Given the description of an element on the screen output the (x, y) to click on. 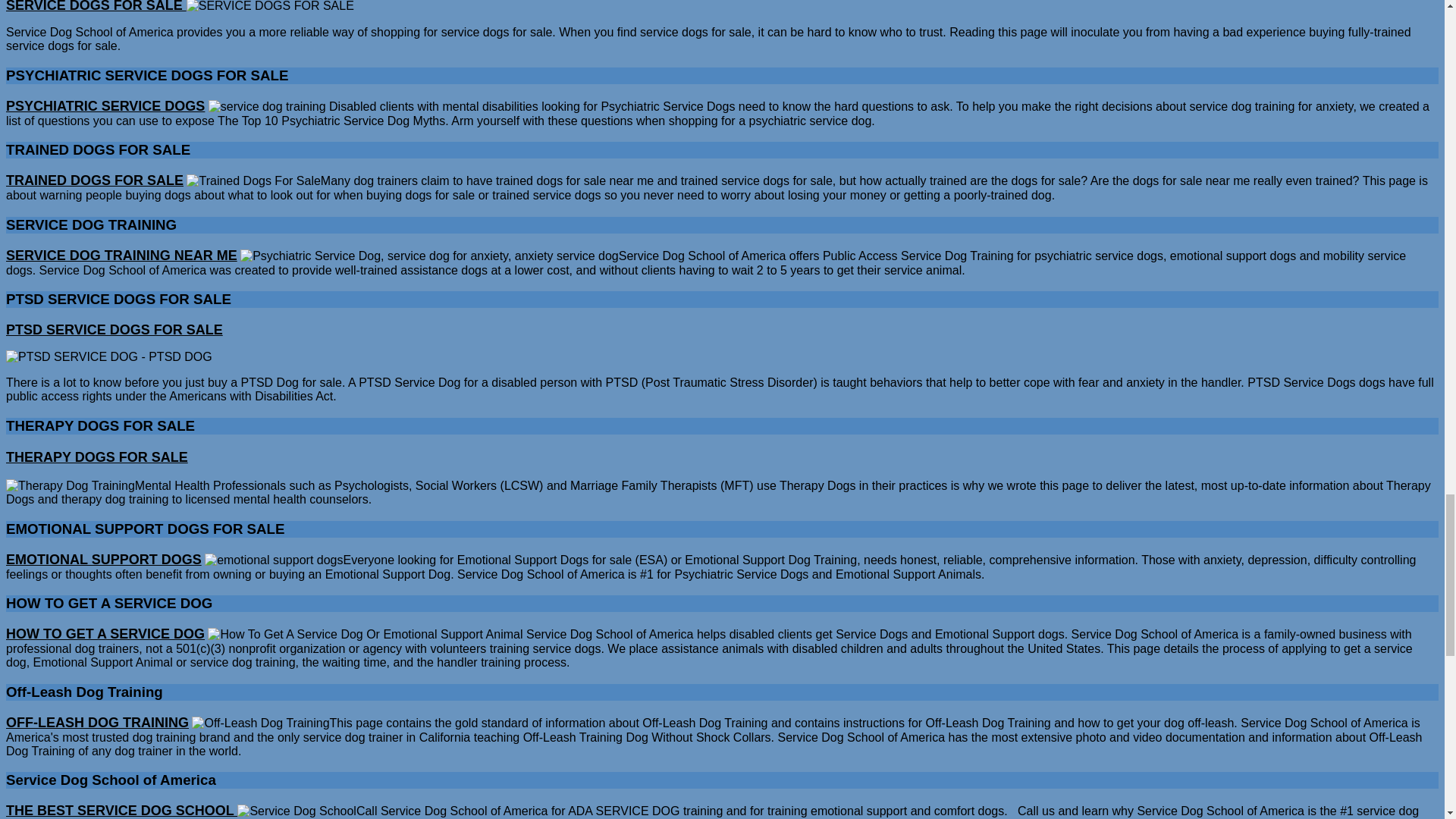
PTSD SERVICE DOGS FOR SALE (113, 329)
OFF-LEASH DOG TRAINING (97, 722)
Service Dogs For Sale (95, 6)
Service Dog School (121, 810)
HOW TO GET A SERVICE DOG (105, 634)
PSYCHIATRIC SERVICE DOGS FOR SALE (105, 106)
EMOTIONAL SUPPORT DOGS FOR SALE (103, 559)
TRAINED DOGS FOR SALE (94, 180)
THERAPY DOGS FOR SALE (96, 456)
SERVICE DOG TRAINING (121, 255)
